Given the description of an element on the screen output the (x, y) to click on. 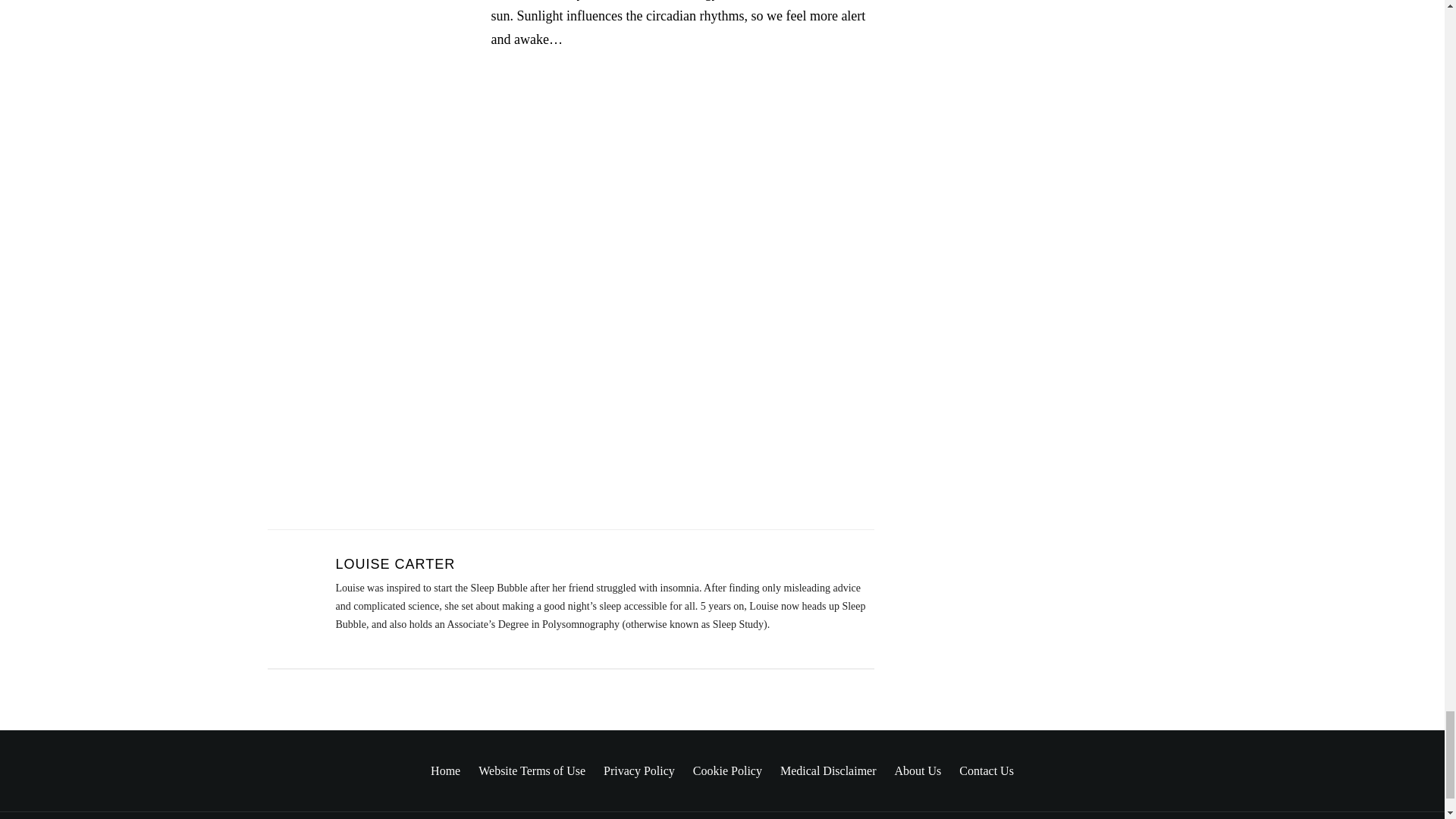
Posts by Louise Carter (394, 563)
